Given the description of an element on the screen output the (x, y) to click on. 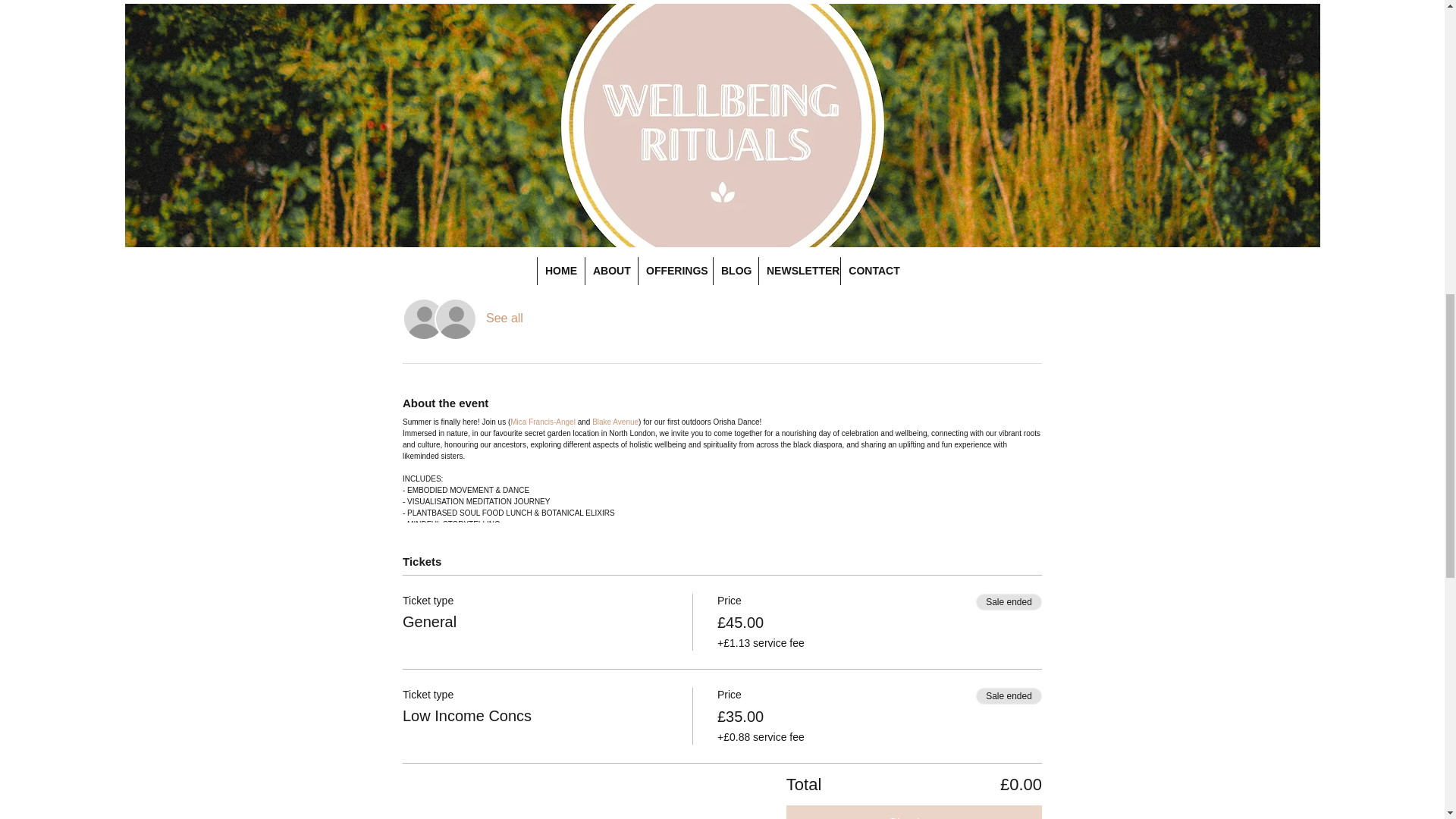
Checkout (914, 812)
Mica Francis-Angel (543, 421)
See all (504, 318)
Blake Avenue (615, 421)
